Given the description of an element on the screen output the (x, y) to click on. 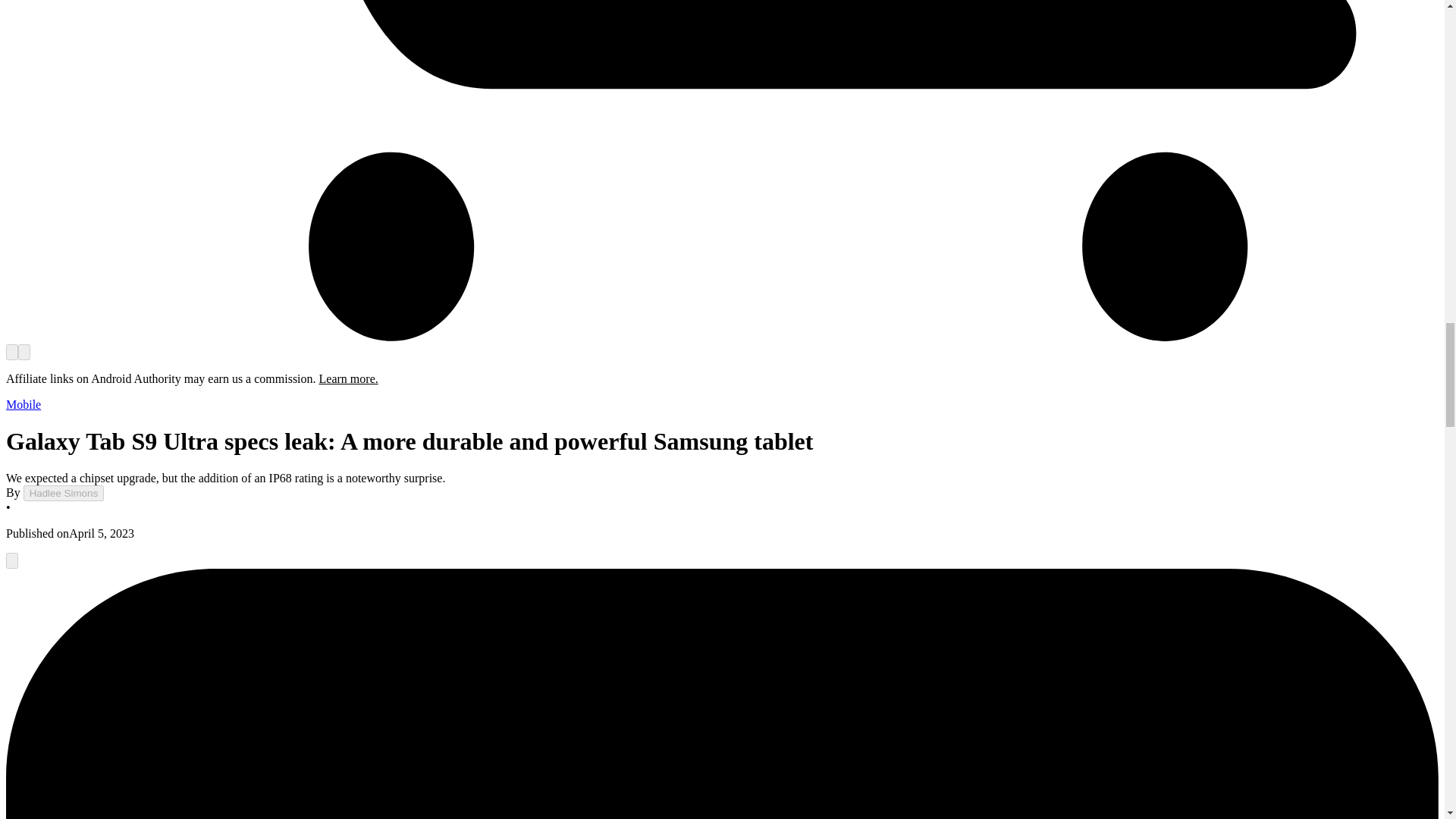
Hadlee Simons (63, 493)
Learn more. (348, 378)
Mobile (22, 404)
